Given the description of an element on the screen output the (x, y) to click on. 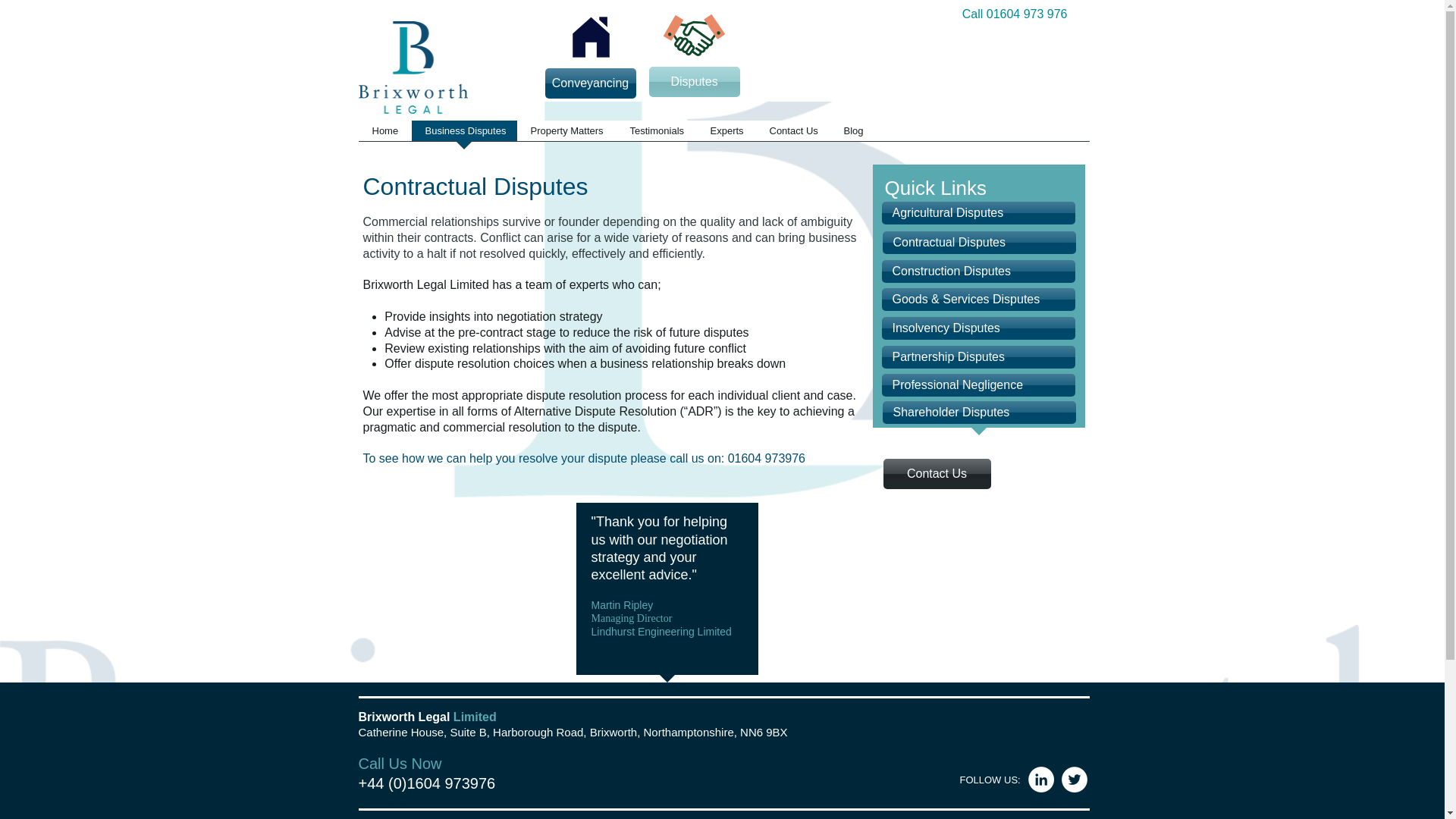
Home (384, 135)
Business Disputes (463, 135)
Contractual Disputes (978, 241)
Professional Negligence (977, 384)
Disputes (694, 81)
Partnership Disputes (977, 356)
Brixworth Legal Homepage (412, 67)
Agricultural Disputes (977, 212)
Experts (725, 135)
Testimonials (655, 135)
Construction Disputes (977, 271)
Blog (852, 135)
Insolvency Disputes (977, 327)
Shareholder Disputes (978, 412)
Property Matters (565, 135)
